Given the description of an element on the screen output the (x, y) to click on. 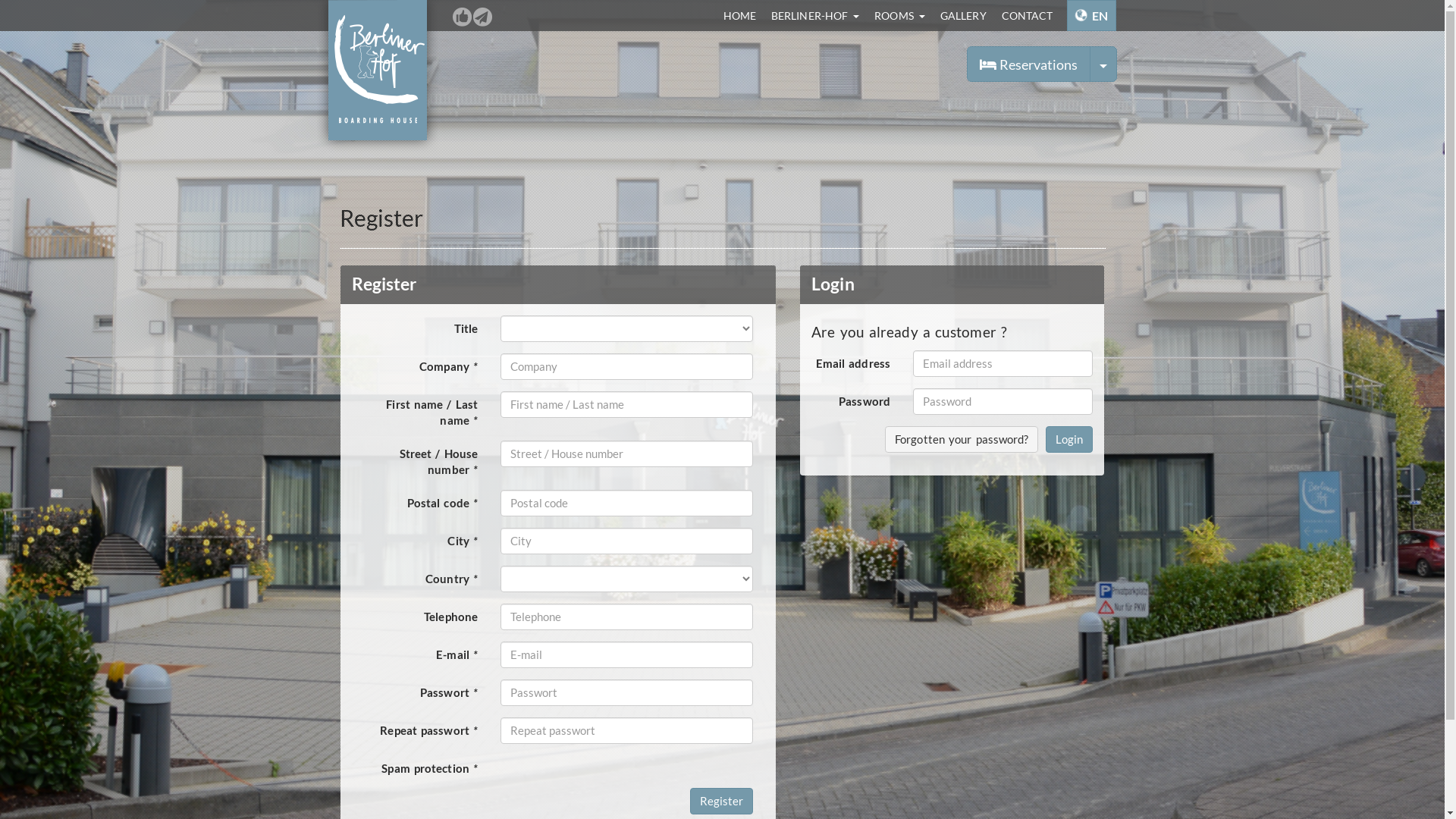
Reservations Element type: text (1027, 63)
ROOMS Element type: text (899, 15)
EN Element type: text (1091, 15)
HOME Element type: text (739, 15)
Forgotten your password? Element type: text (961, 439)
Register Element type: text (721, 800)
Login Element type: text (1068, 439)
Home Element type: hover (377, 77)
BERLINER-HOF Element type: text (814, 15)
CONTACT Element type: text (1027, 15)
GALLERY Element type: text (963, 15)
